Given the description of an element on the screen output the (x, y) to click on. 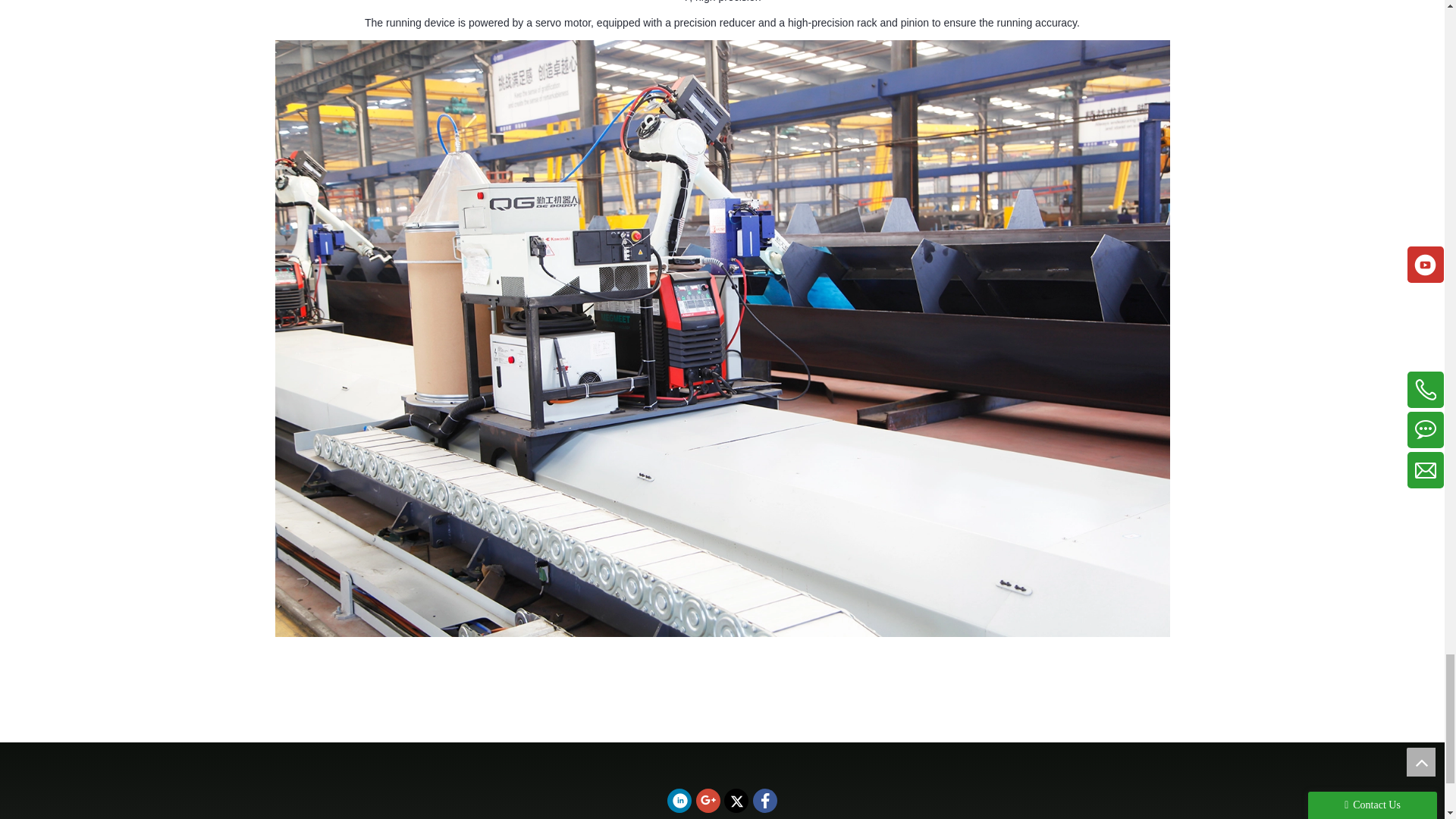
Linkedin (678, 800)
Twitter (735, 800)
Facebook (764, 800)
